Given the description of an element on the screen output the (x, y) to click on. 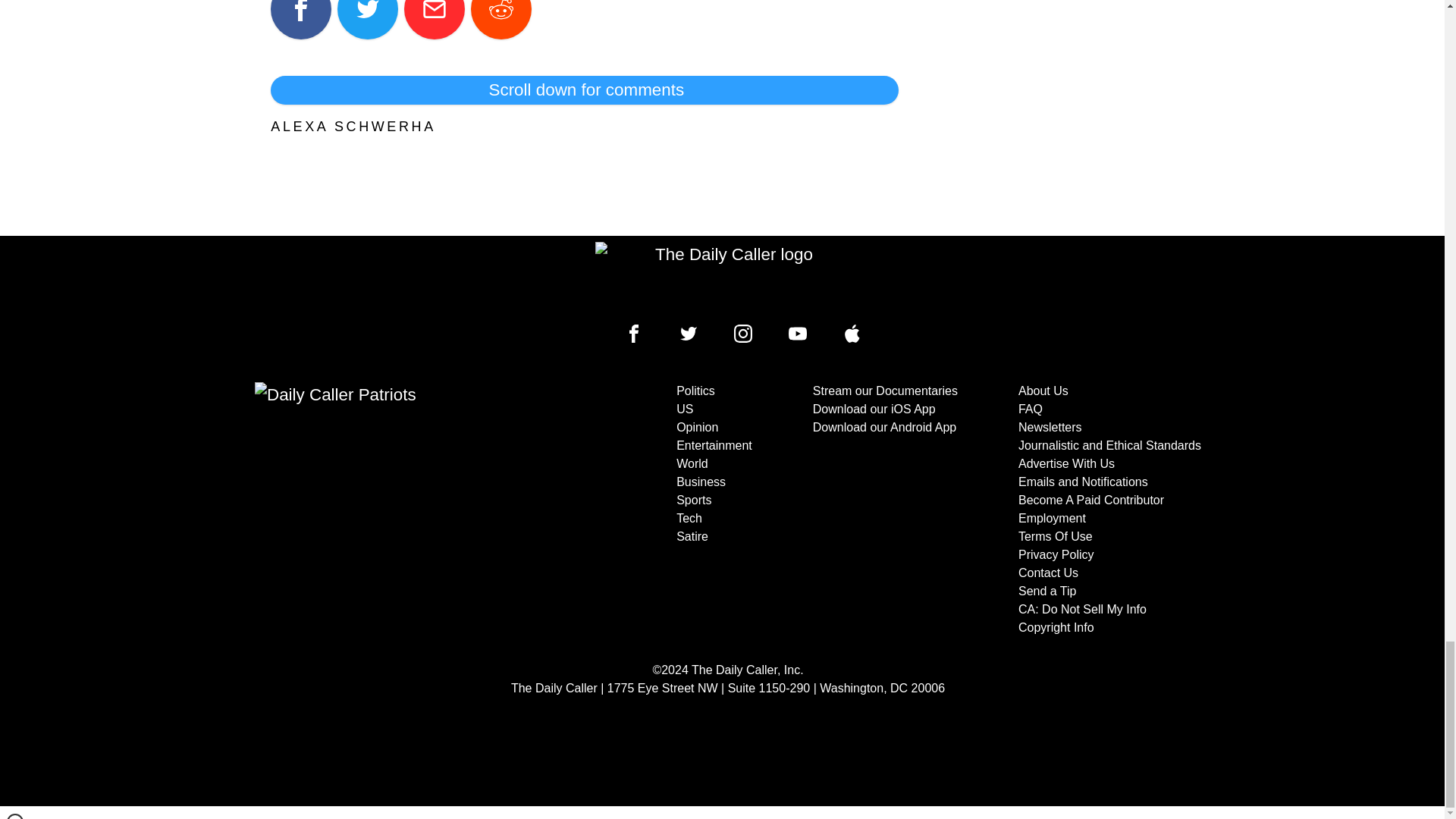
Subscribe to The Daily Caller (405, 509)
Daily Caller Twitter (688, 333)
Daily Caller Instagram (742, 333)
To home page (727, 276)
Daily Caller Facebook (633, 333)
Scroll down for comments (584, 90)
Daily Caller YouTube (797, 333)
Daily Caller YouTube (852, 333)
